Given the description of an element on the screen output the (x, y) to click on. 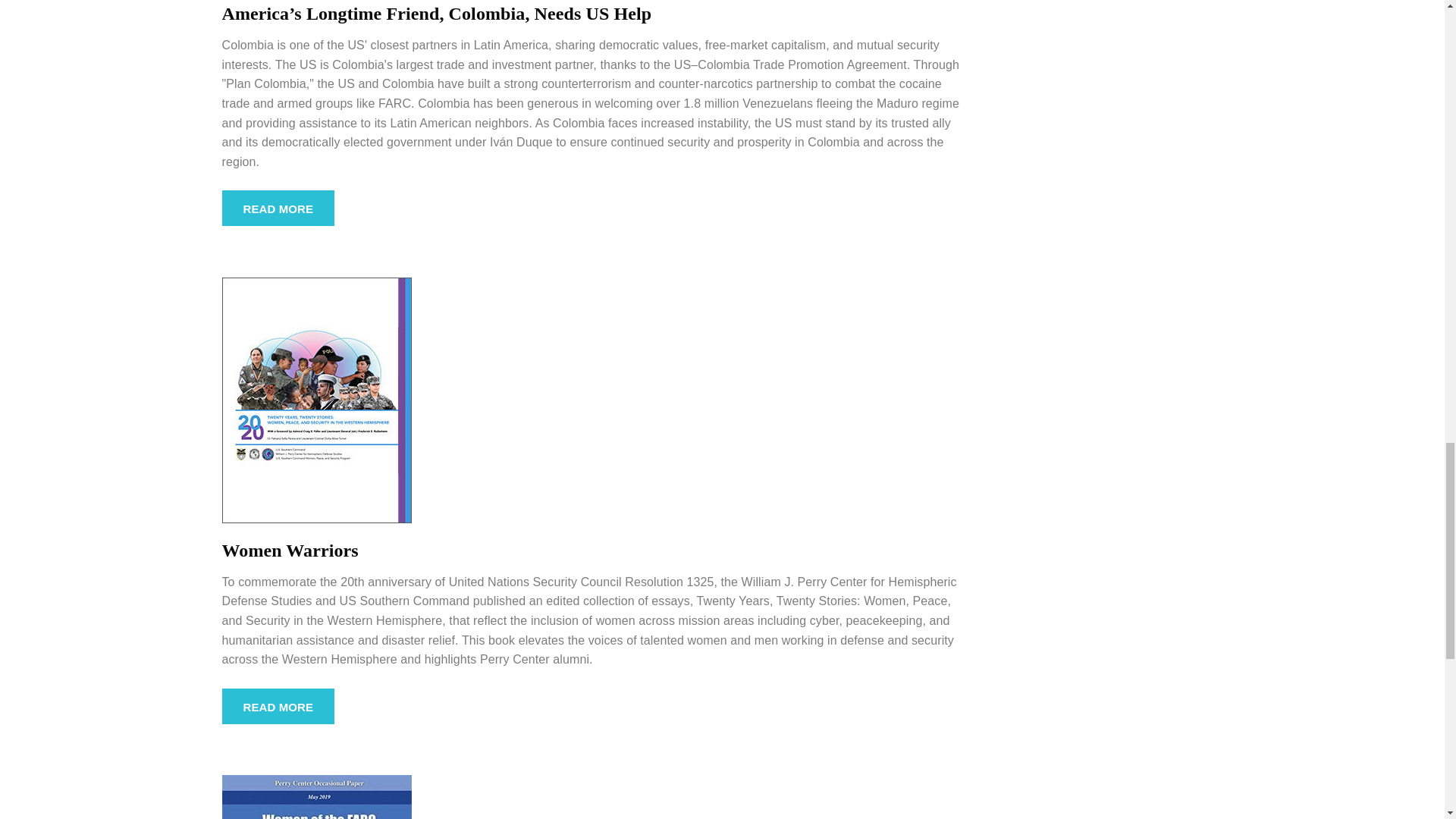
Women Warriors (315, 399)
